Given the description of an element on the screen output the (x, y) to click on. 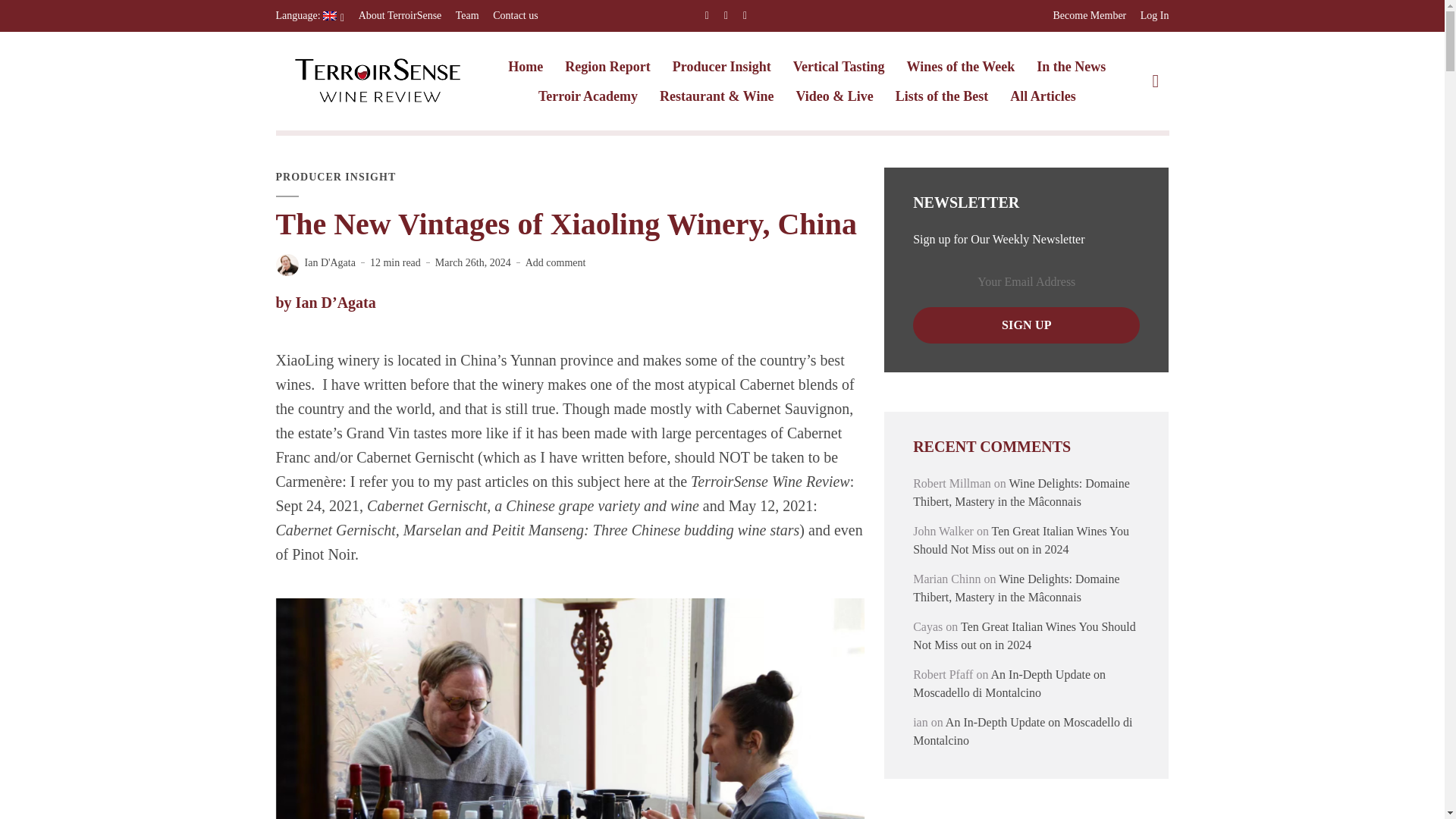
Contact us (515, 15)
Producer Insight (721, 66)
In the News (1070, 66)
Home (525, 66)
English (310, 15)
Vertical Tasting (839, 66)
Region Report (606, 66)
Log In (1154, 15)
Language:  (310, 15)
SIGN UP (1026, 325)
